Given the description of an element on the screen output the (x, y) to click on. 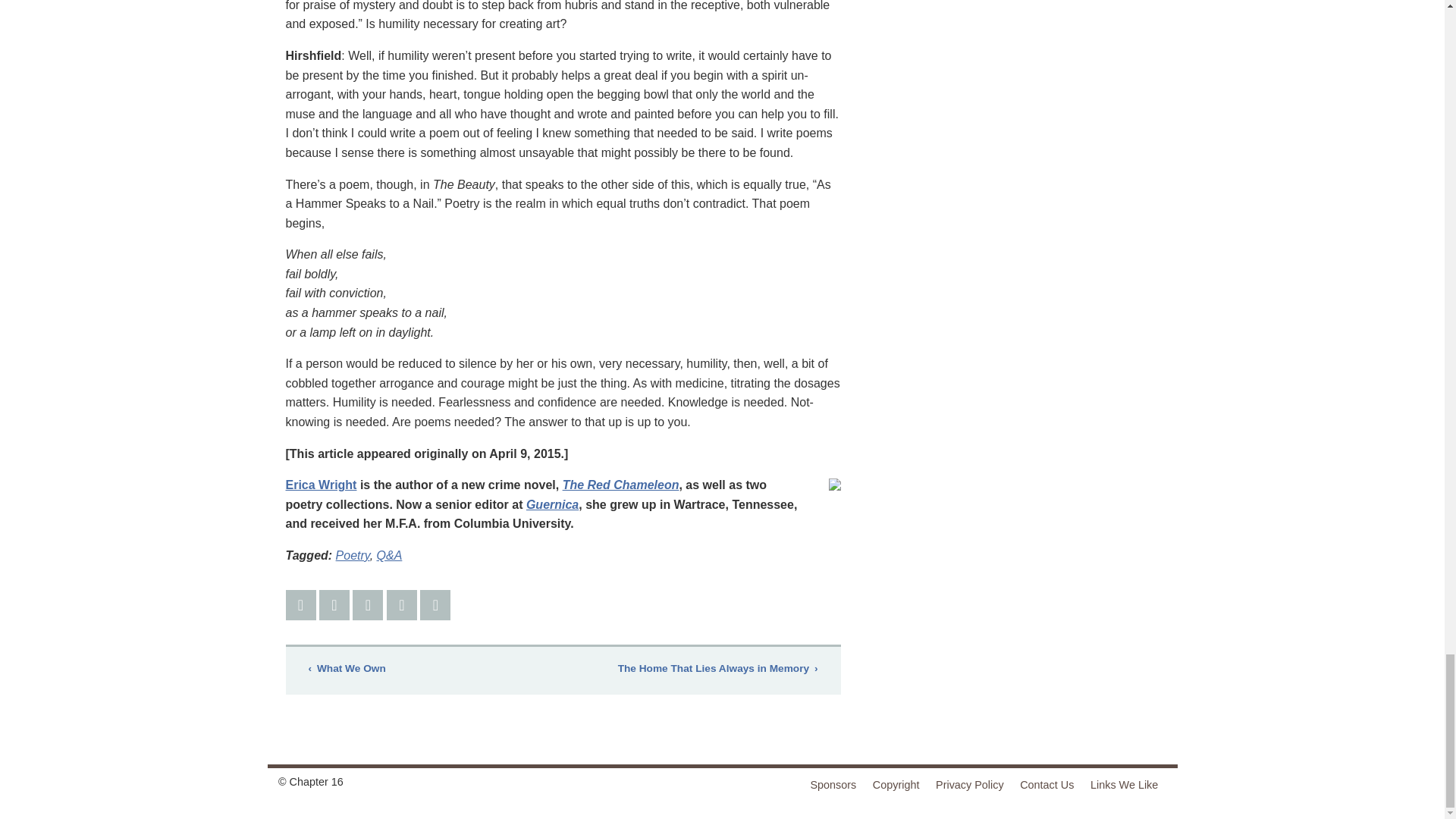
The Red Chameleon (620, 484)
Print (434, 604)
Erica Wright (320, 484)
Share on Facebook (300, 604)
The Home That Lies Always in Memory (717, 669)
Guernica (551, 504)
Tweet (333, 604)
Poetry (352, 554)
Email (401, 604)
What We Own (346, 669)
